Given the description of an element on the screen output the (x, y) to click on. 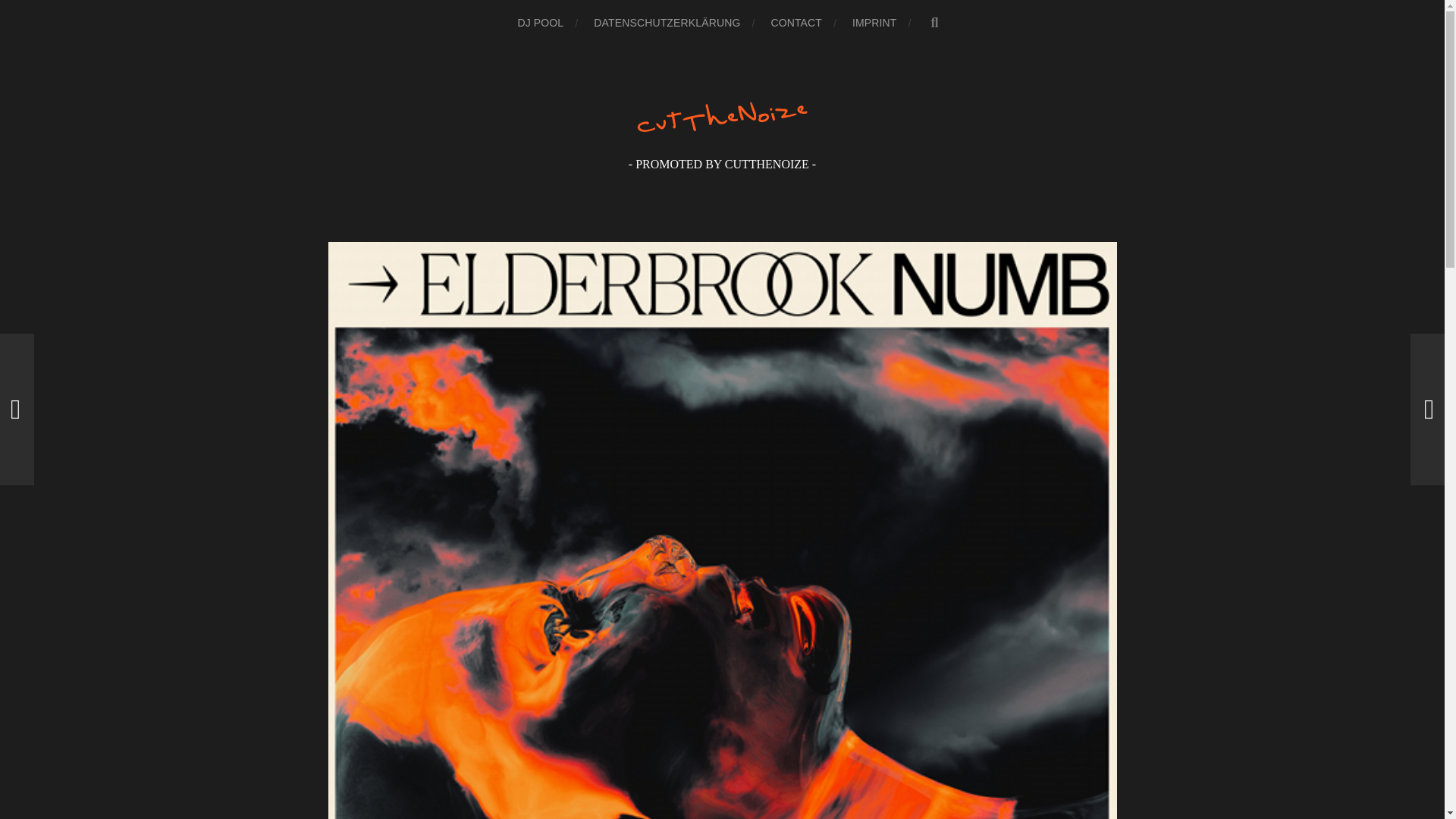
DJ POOL (539, 22)
CONTACT (796, 22)
IMPRINT (873, 22)
